Given the description of an element on the screen output the (x, y) to click on. 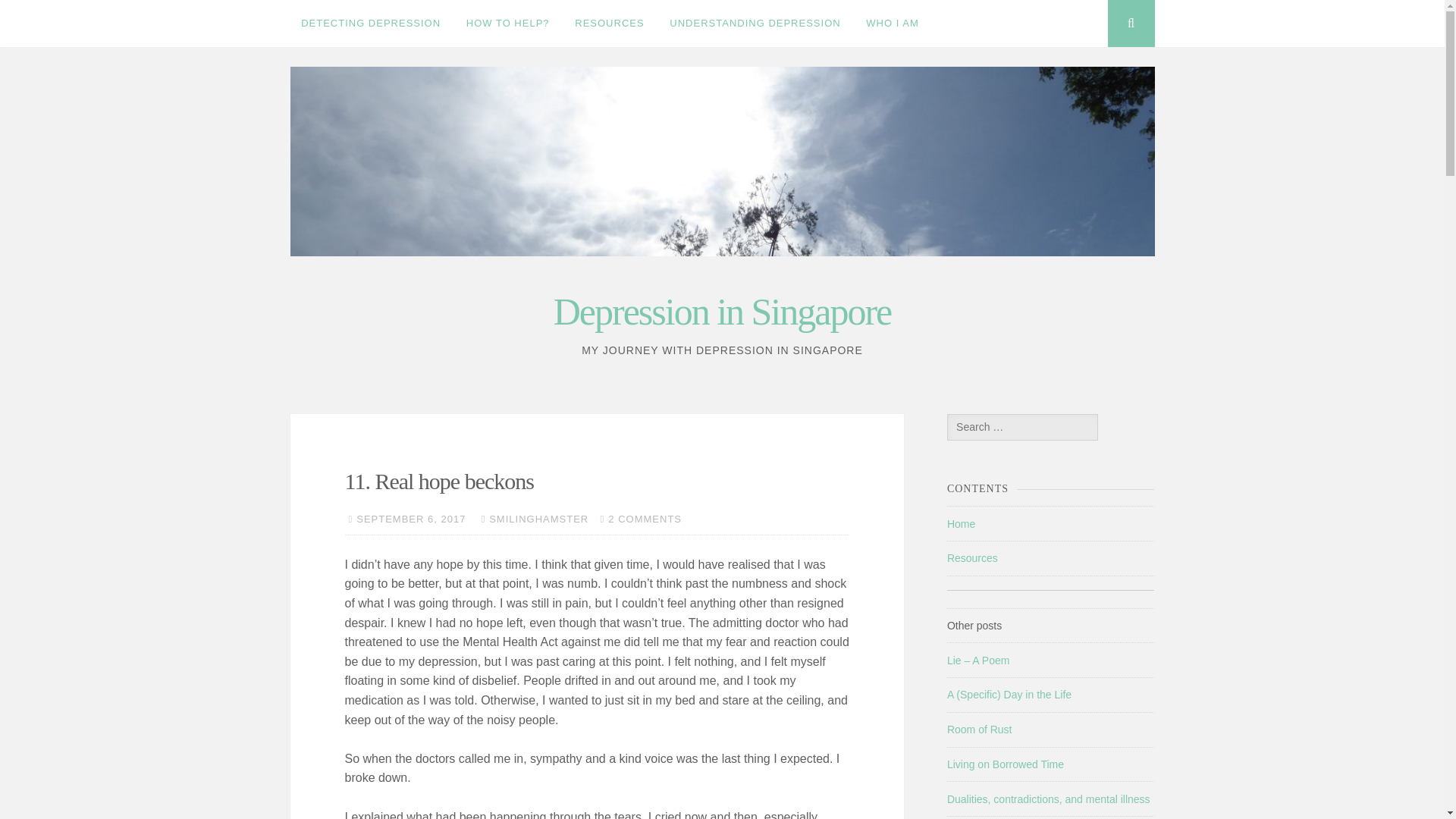
SEPTEMBER 6, 2017 (410, 518)
Living on Borrowed Time (1005, 764)
Dualities, contradictions, and mental illness (1048, 799)
Search (41, 15)
Resources (972, 558)
2 COMMENTS (644, 518)
DETECTING DEPRESSION (370, 23)
Room of Rust (979, 729)
Home (961, 523)
HOW TO HELP? (507, 23)
